Given the description of an element on the screen output the (x, y) to click on. 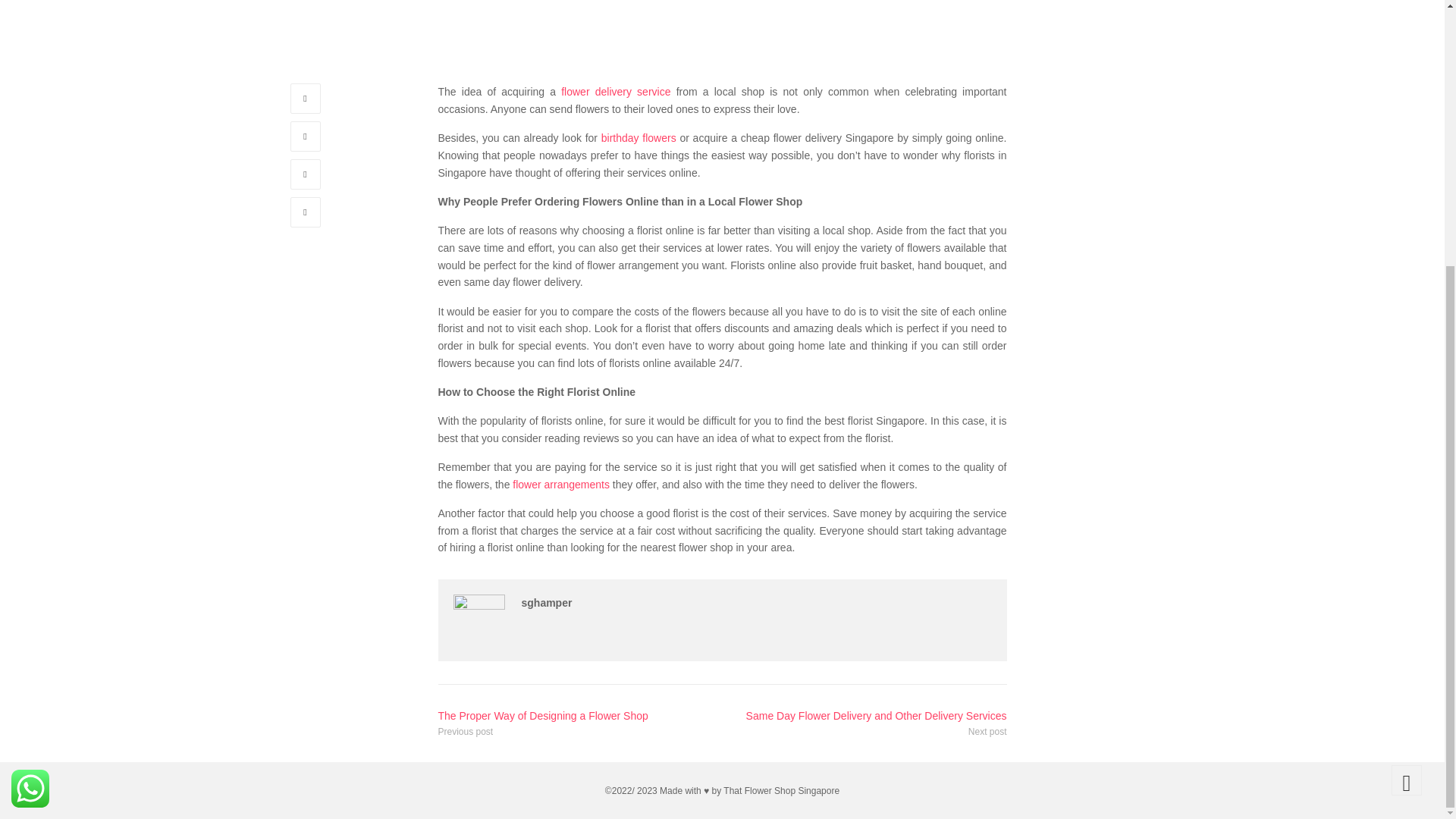
Googleplus (304, 173)
Facebook (304, 98)
Twitter (304, 136)
Back to top (1406, 395)
Pinterest (304, 212)
